Given the description of an element on the screen output the (x, y) to click on. 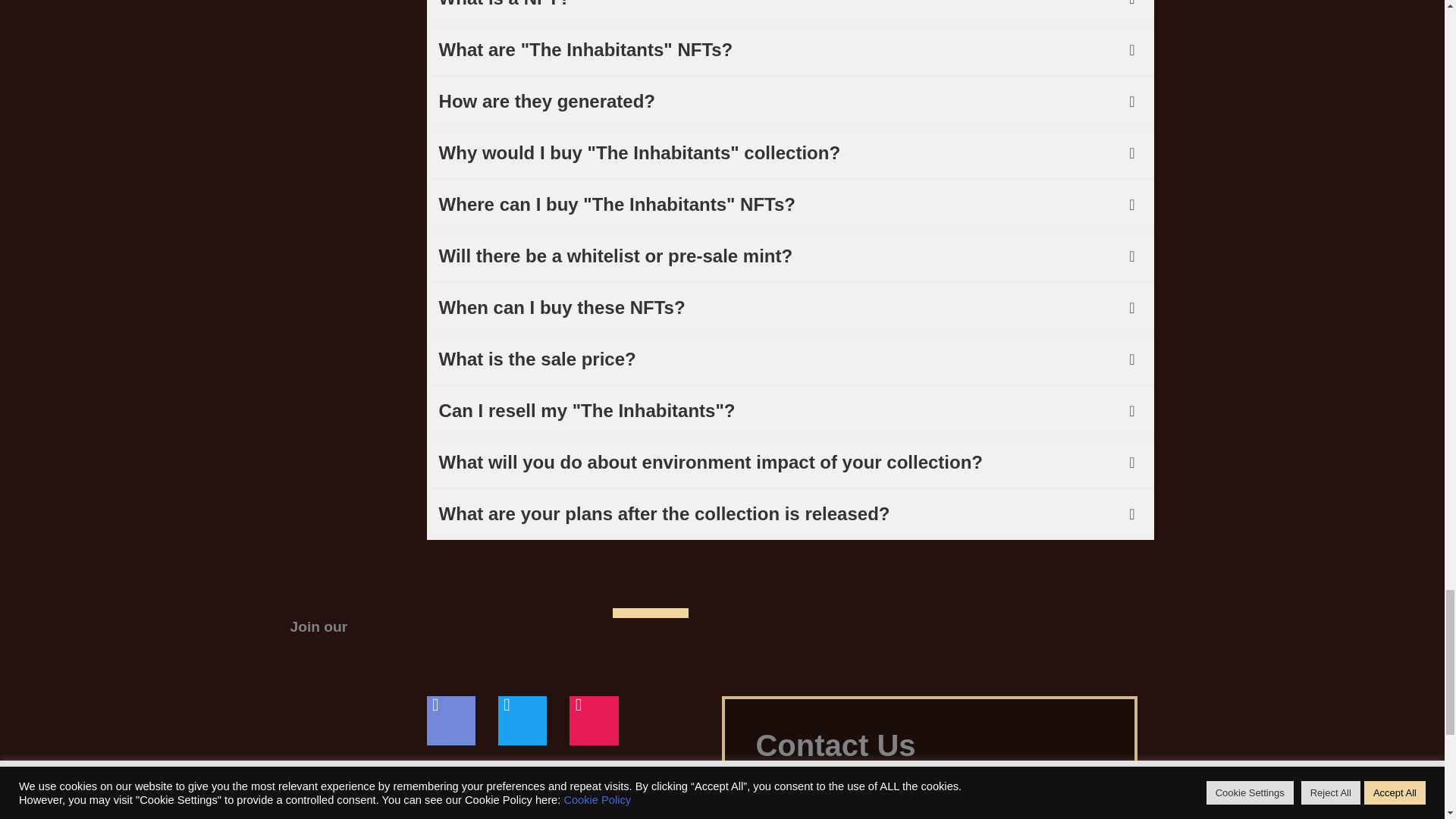
Twitter (522, 720)
Instagram (593, 720)
Discord (451, 720)
